Given the description of an element on the screen output the (x, y) to click on. 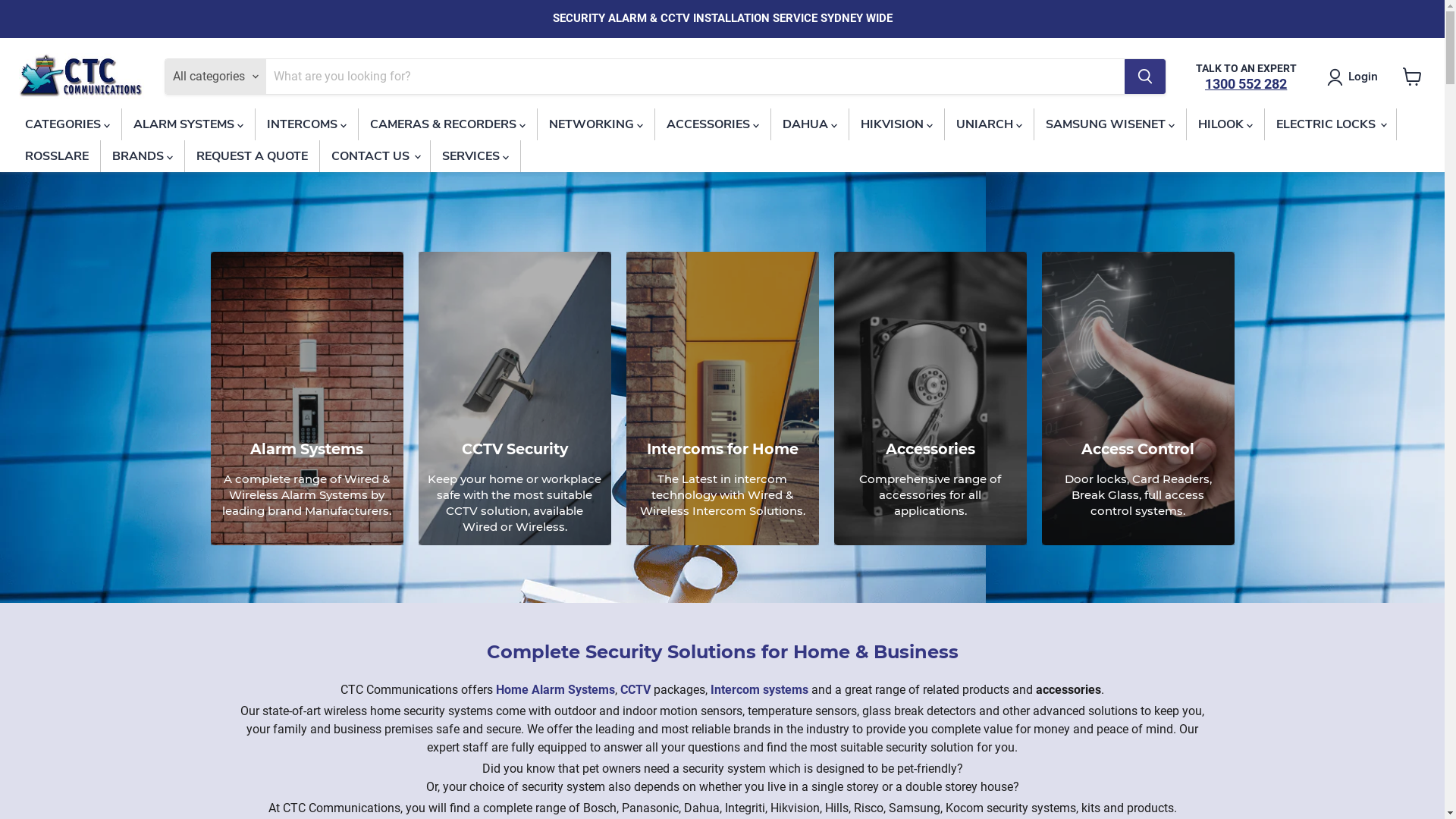
REQUEST A QUOTE Element type: text (252, 156)
Intercom systems Element type: text (759, 689)
1300 552 282 Element type: text (1245, 83)
Login Element type: text (1362, 77)
View cart Element type: text (1412, 76)
CCTV Element type: text (635, 689)
Home Alarm Systems Element type: text (555, 689)
ROSSLARE Element type: text (56, 156)
